Given the description of an element on the screen output the (x, y) to click on. 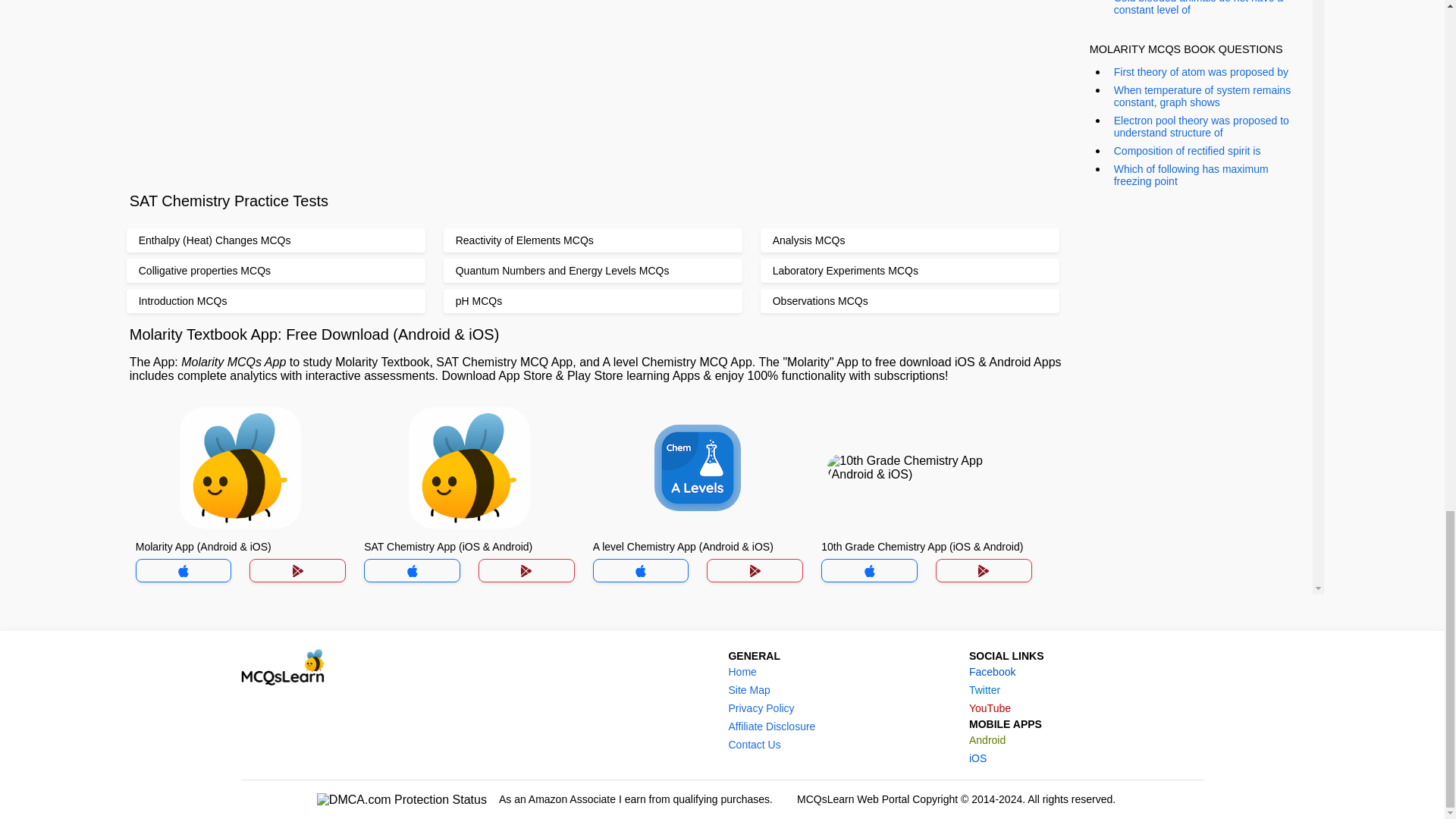
DMCA.com Protection Status (401, 799)
